Given the description of an element on the screen output the (x, y) to click on. 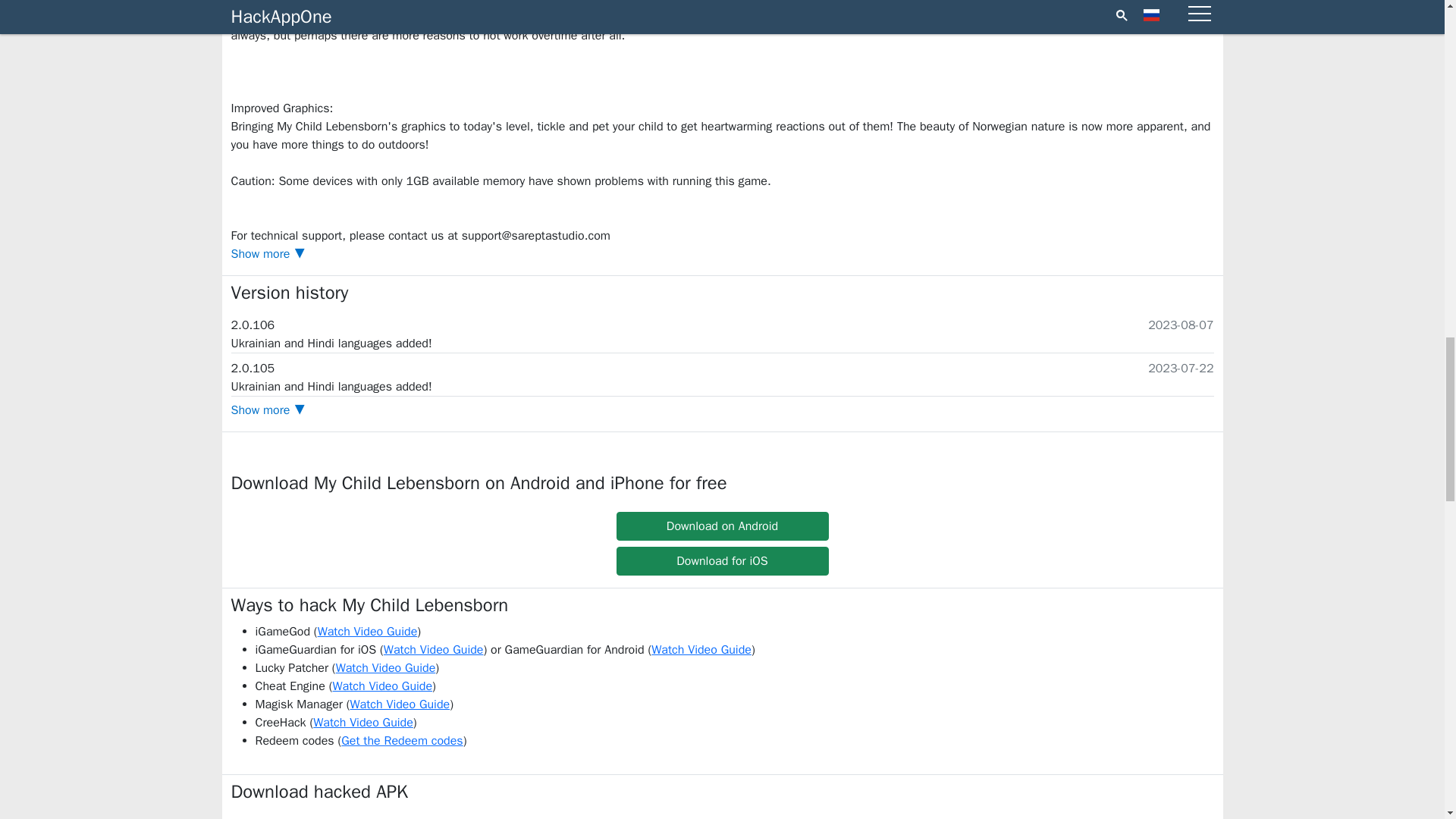
Watch Video Guide (381, 685)
Watch Video Guide (367, 631)
Get the Redeem codes (401, 740)
Watch Video Guide (363, 722)
Download on Android (721, 525)
Watch Video Guide (399, 703)
Watch Video Guide (700, 649)
Download for iOS (721, 561)
Watch Video Guide (385, 667)
Watch Video Guide (433, 649)
